Given the description of an element on the screen output the (x, y) to click on. 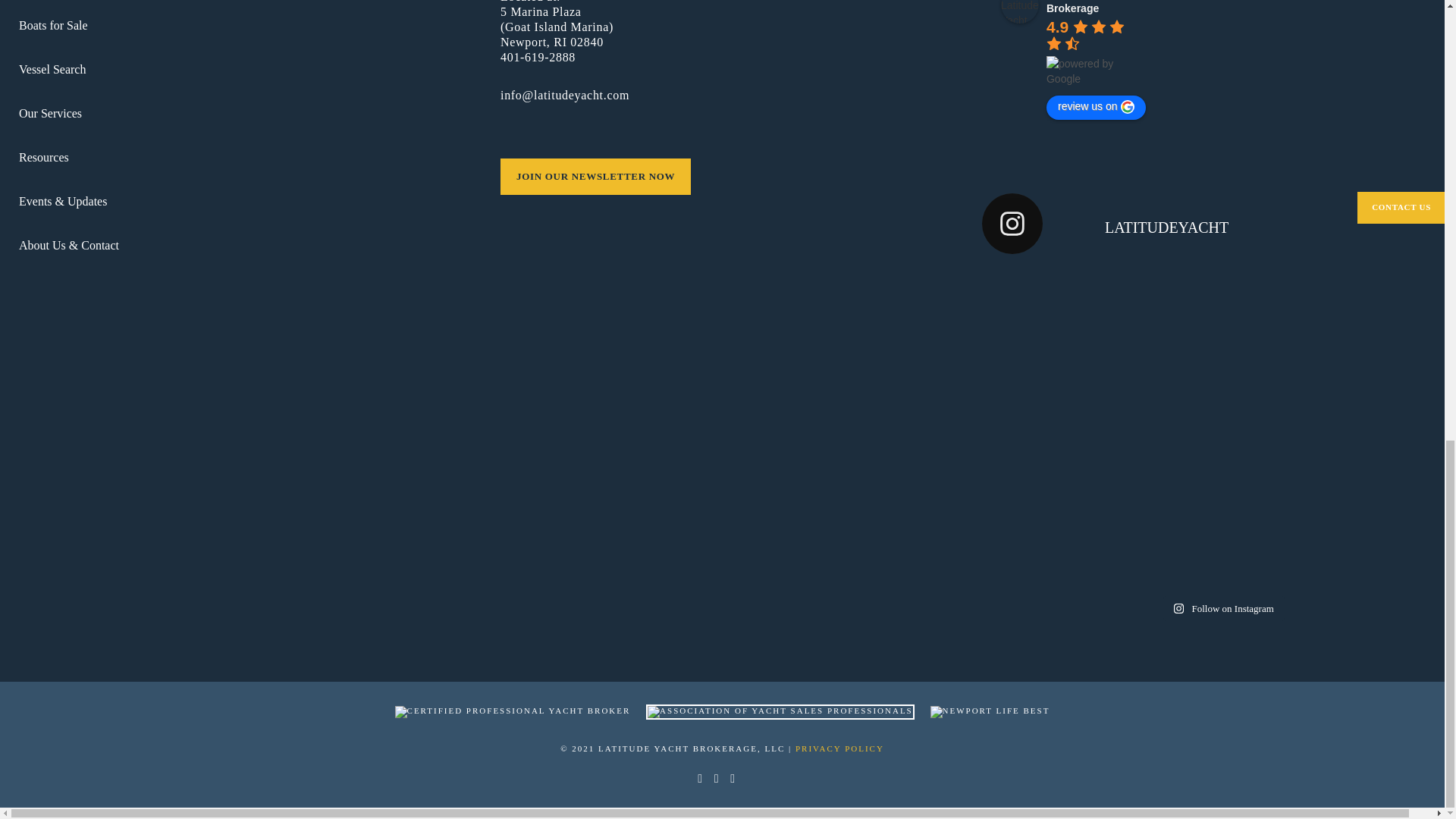
Vessel Search (240, 76)
Our Services (240, 120)
Latitude Yacht Brokerage (1020, 11)
powered by Google (1095, 71)
Resources (240, 164)
Boats for Sale (240, 32)
